Given the description of an element on the screen output the (x, y) to click on. 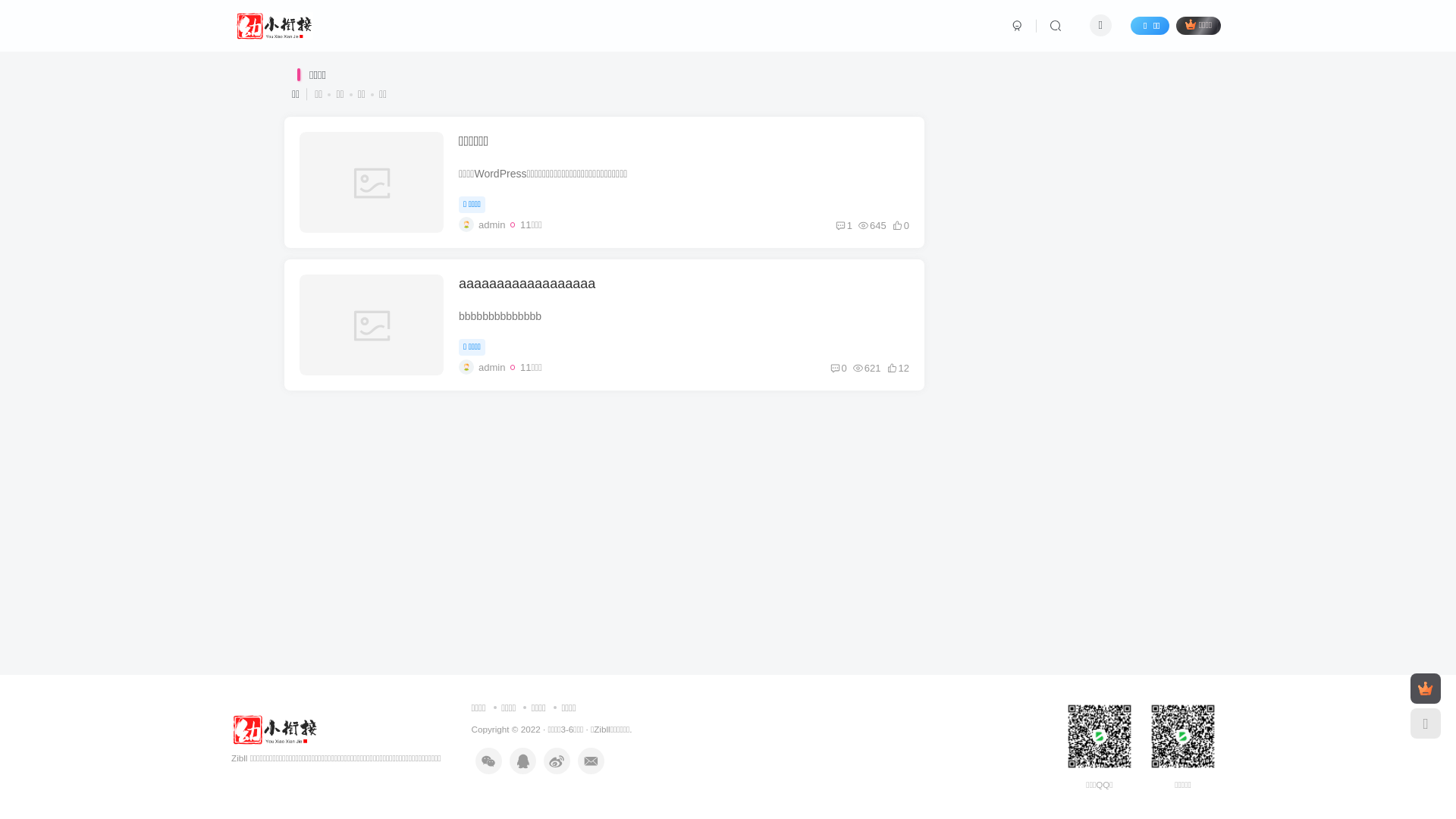
aaaaaaaaaaaaaaaaaa Element type: text (526, 283)
0 Element type: text (838, 367)
1 Element type: text (843, 225)
